Given the description of an element on the screen output the (x, y) to click on. 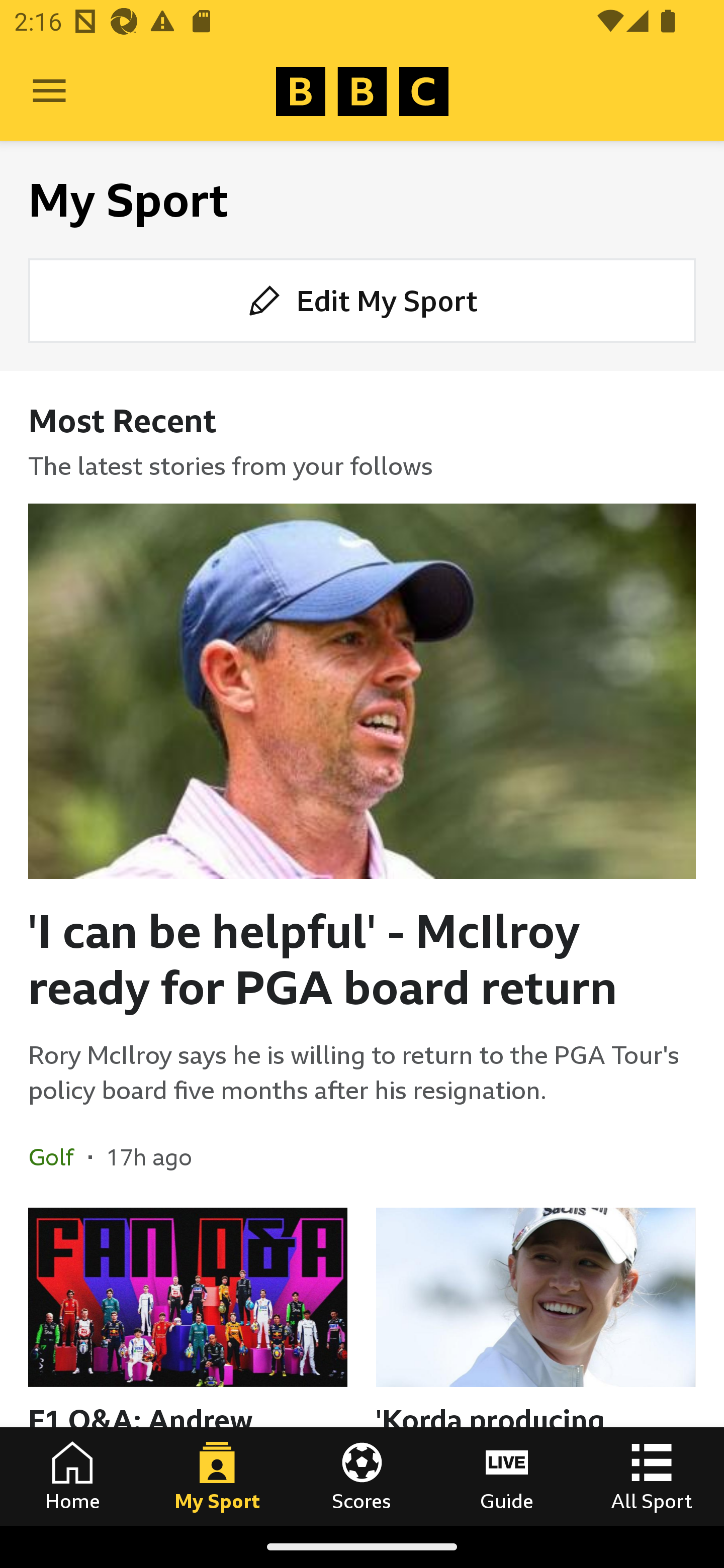
Open Menu (49, 91)
Edit My Sport (361, 300)
Golf In the section Golf (58, 1156)
Home (72, 1475)
Scores (361, 1475)
Guide (506, 1475)
All Sport (651, 1475)
